Given the description of an element on the screen output the (x, y) to click on. 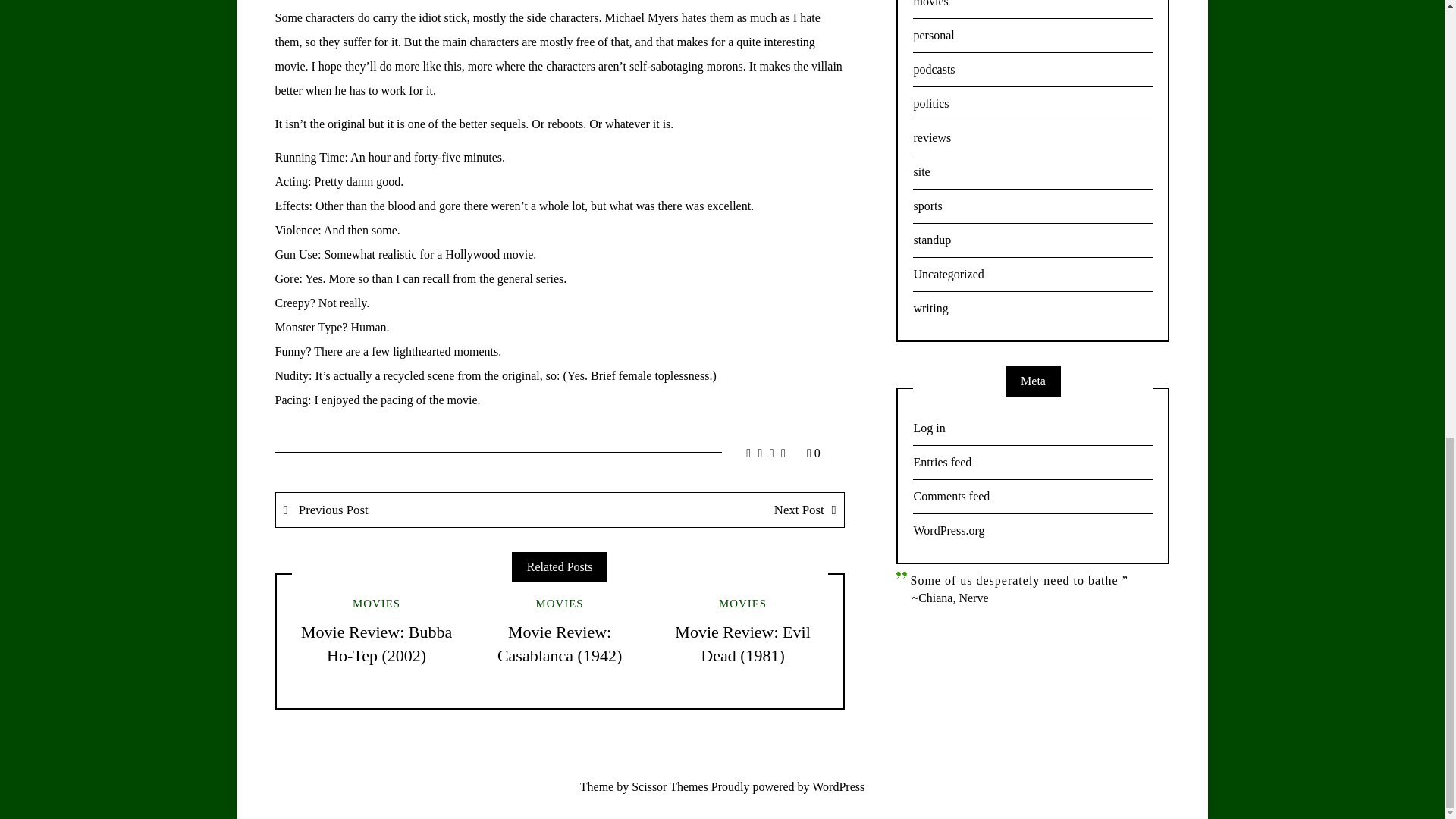
Previous Post (418, 510)
MOVIES (559, 603)
Next Post (701, 510)
MOVIES (376, 603)
0 (813, 452)
MOVIES (743, 603)
